Given the description of an element on the screen output the (x, y) to click on. 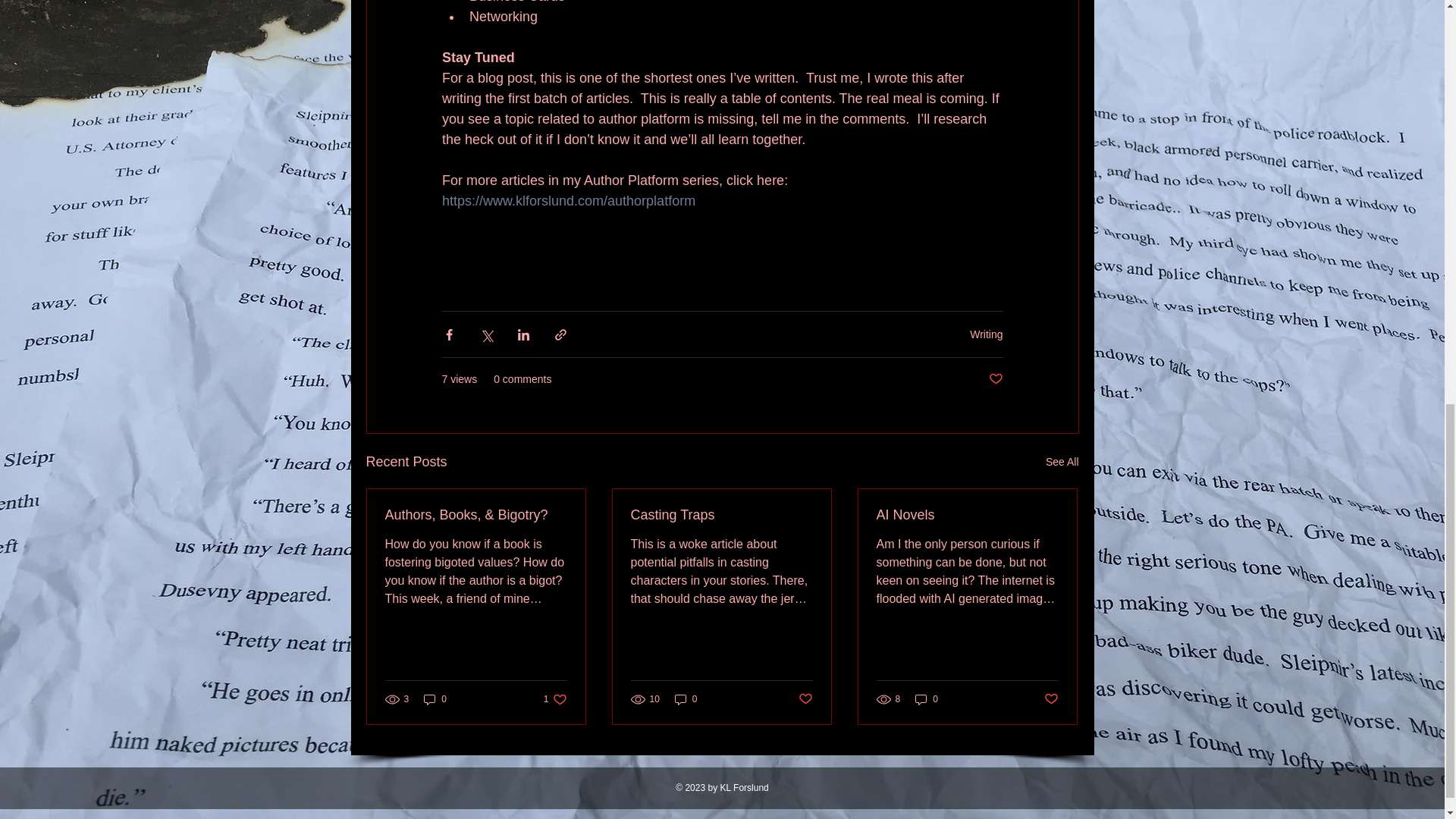
0 (435, 699)
Post not marked as liked (995, 379)
Writing (986, 334)
See All (1061, 462)
